Given the description of an element on the screen output the (x, y) to click on. 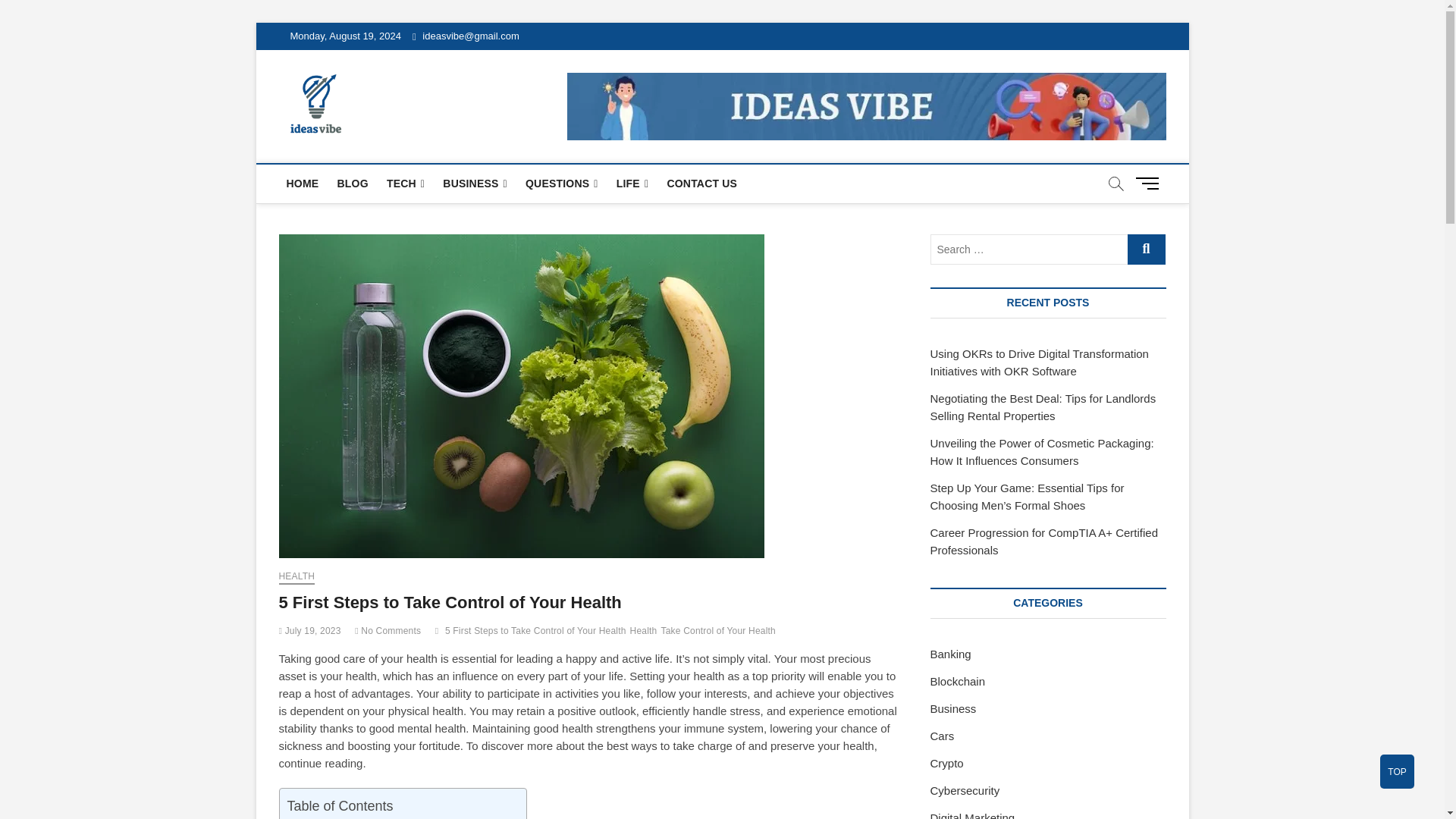
July 19, 2023 (309, 630)
BLOG (352, 183)
TECH (405, 183)
QUESTIONS (561, 183)
HEALTH (297, 577)
CONTACT US (701, 183)
July 19, 2023 (309, 630)
Health (645, 632)
Ideas Vibe (409, 100)
